Given the description of an element on the screen output the (x, y) to click on. 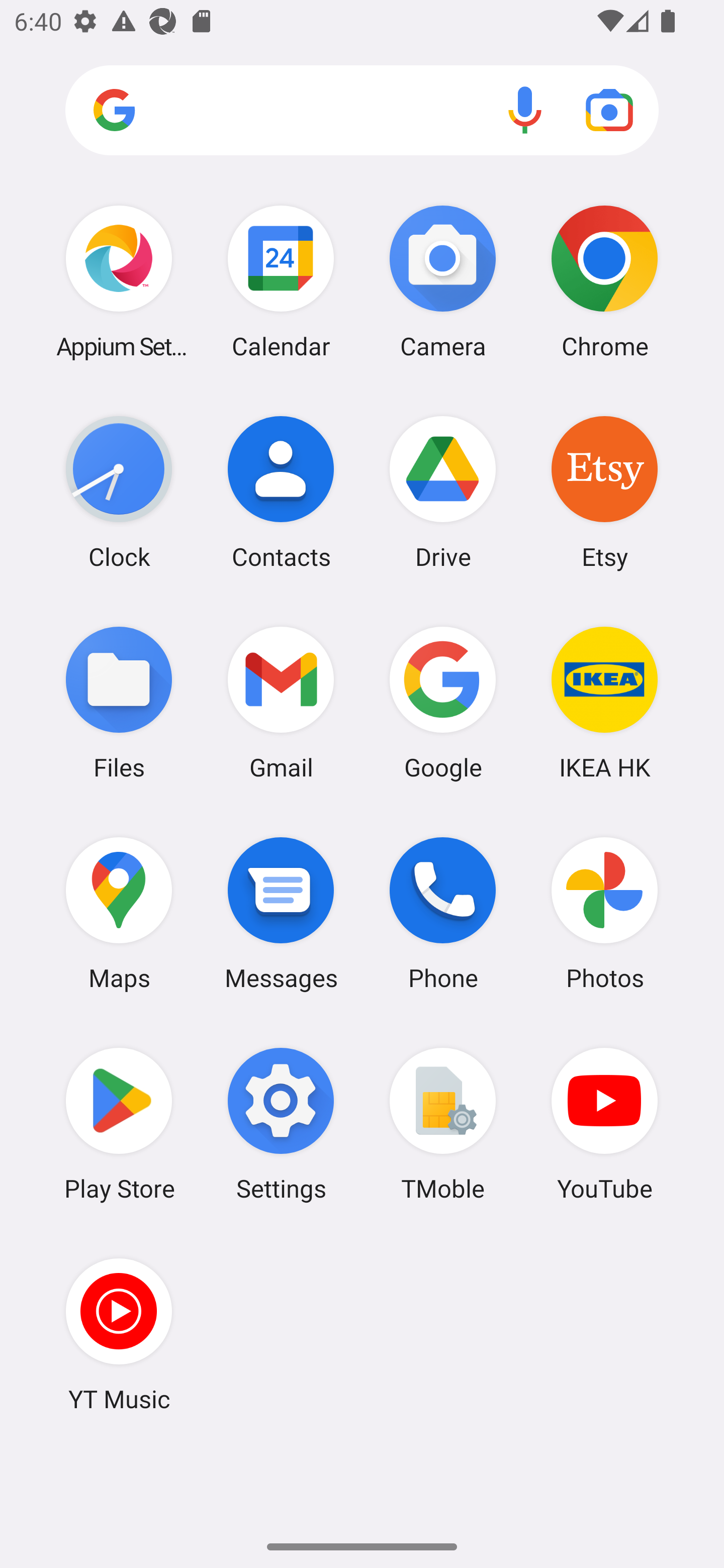
Search apps, web and more (361, 110)
Voice search (524, 109)
Google Lens (608, 109)
Appium Settings (118, 281)
Calendar (280, 281)
Camera (443, 281)
Chrome (604, 281)
Clock (118, 492)
Contacts (280, 492)
Drive (443, 492)
Etsy (604, 492)
Files (118, 702)
Gmail (280, 702)
Google (443, 702)
IKEA HK (604, 702)
Maps (118, 913)
Messages (280, 913)
Phone (443, 913)
Photos (604, 913)
Play Store (118, 1124)
Settings (280, 1124)
TMoble (443, 1124)
YouTube (604, 1124)
YT Music (118, 1334)
